Given the description of an element on the screen output the (x, y) to click on. 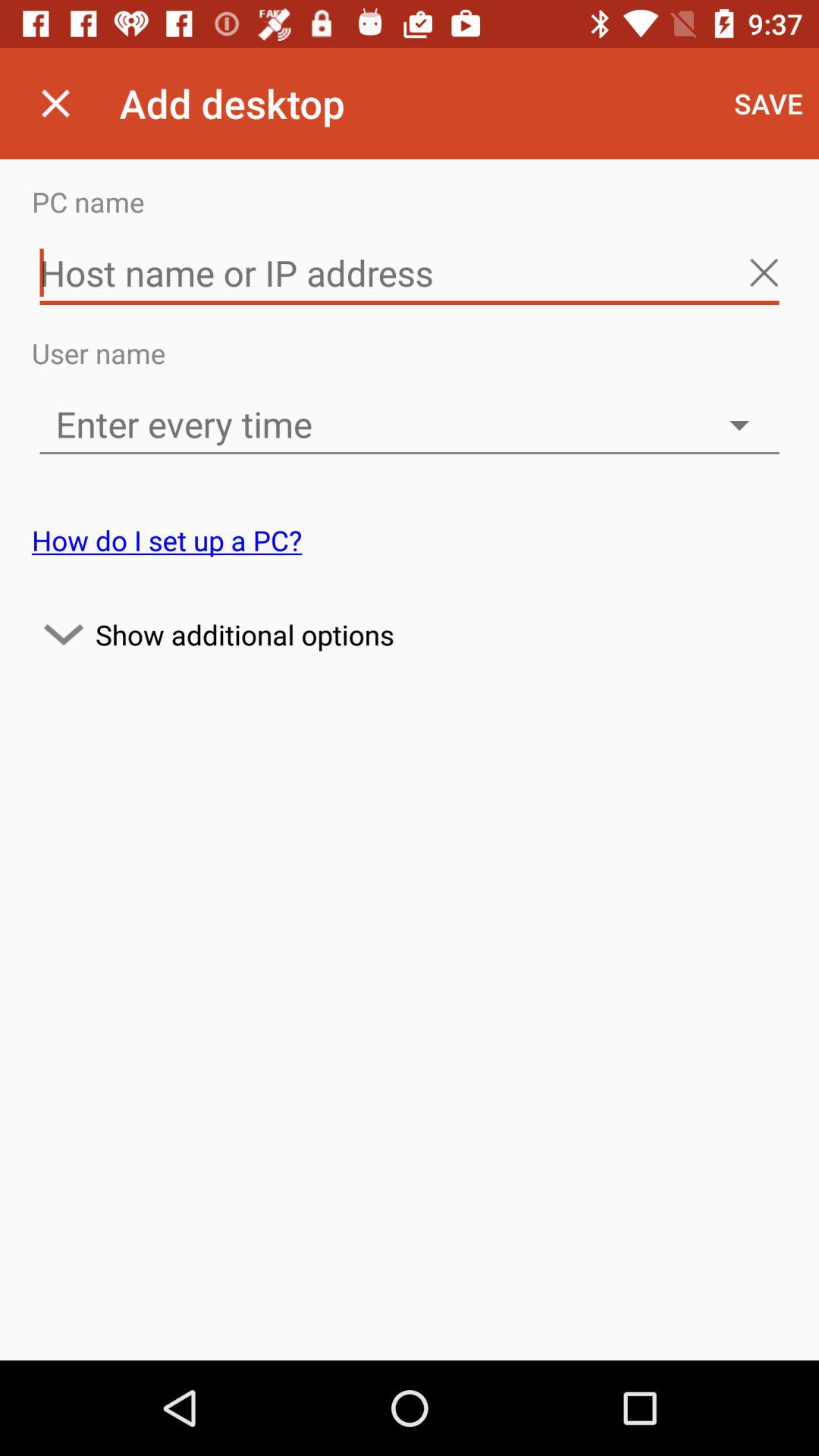
tap the icon below the how do i icon (409, 634)
